Given the description of an element on the screen output the (x, y) to click on. 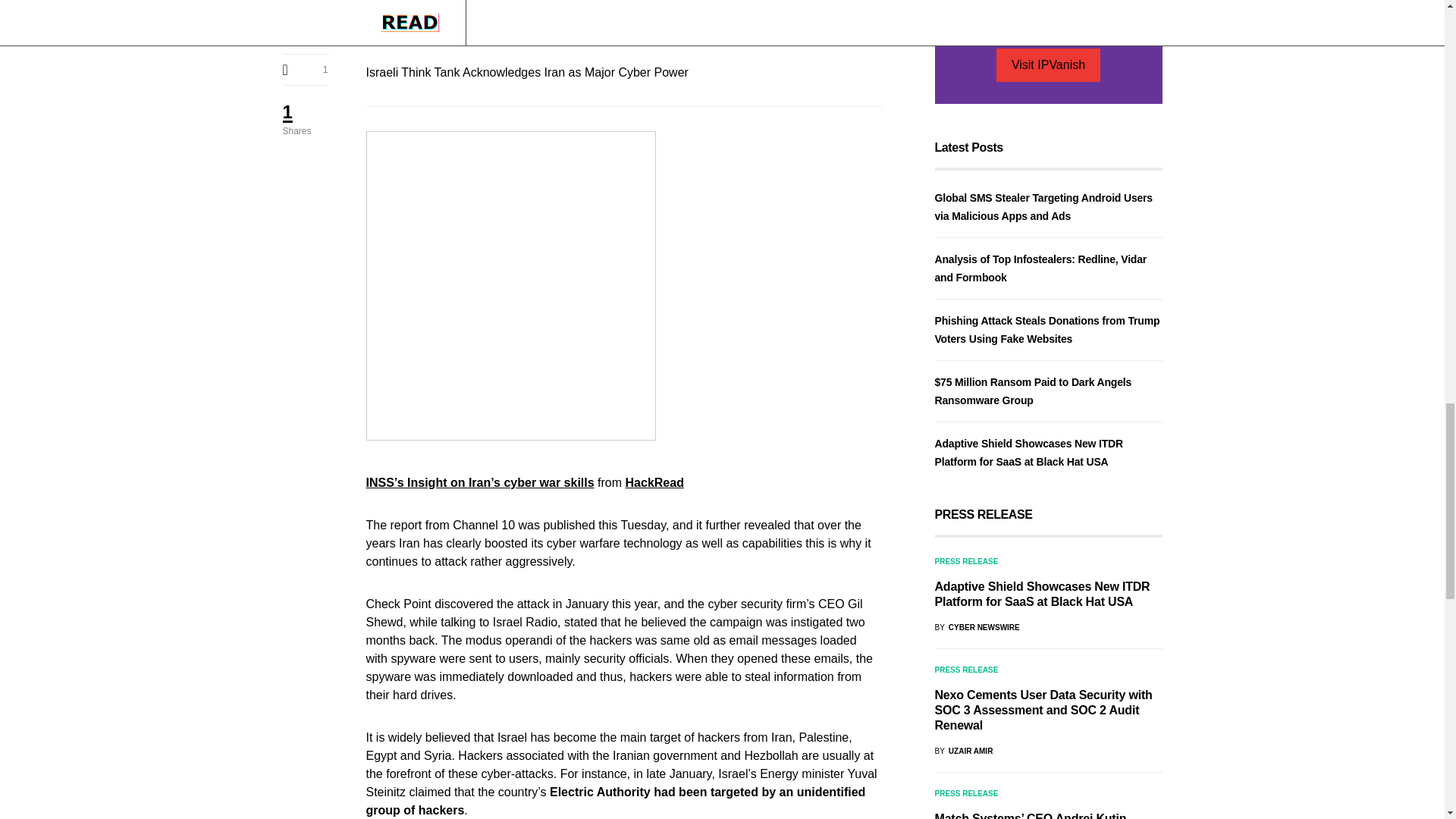
INSS's Insight on Iran's cyber war skills (479, 481)
